Given the description of an element on the screen output the (x, y) to click on. 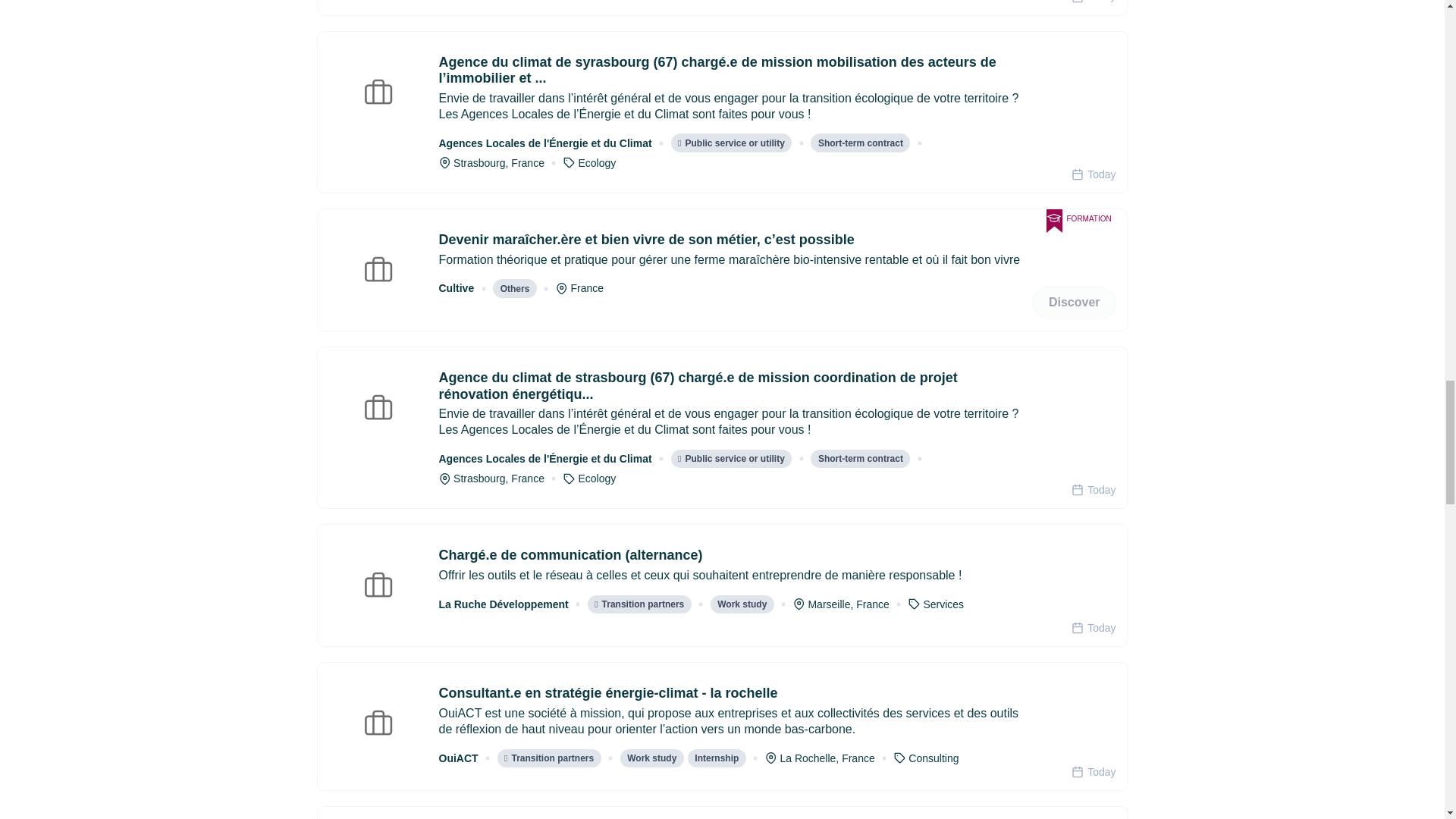
Discover (1074, 302)
